Given the description of an element on the screen output the (x, y) to click on. 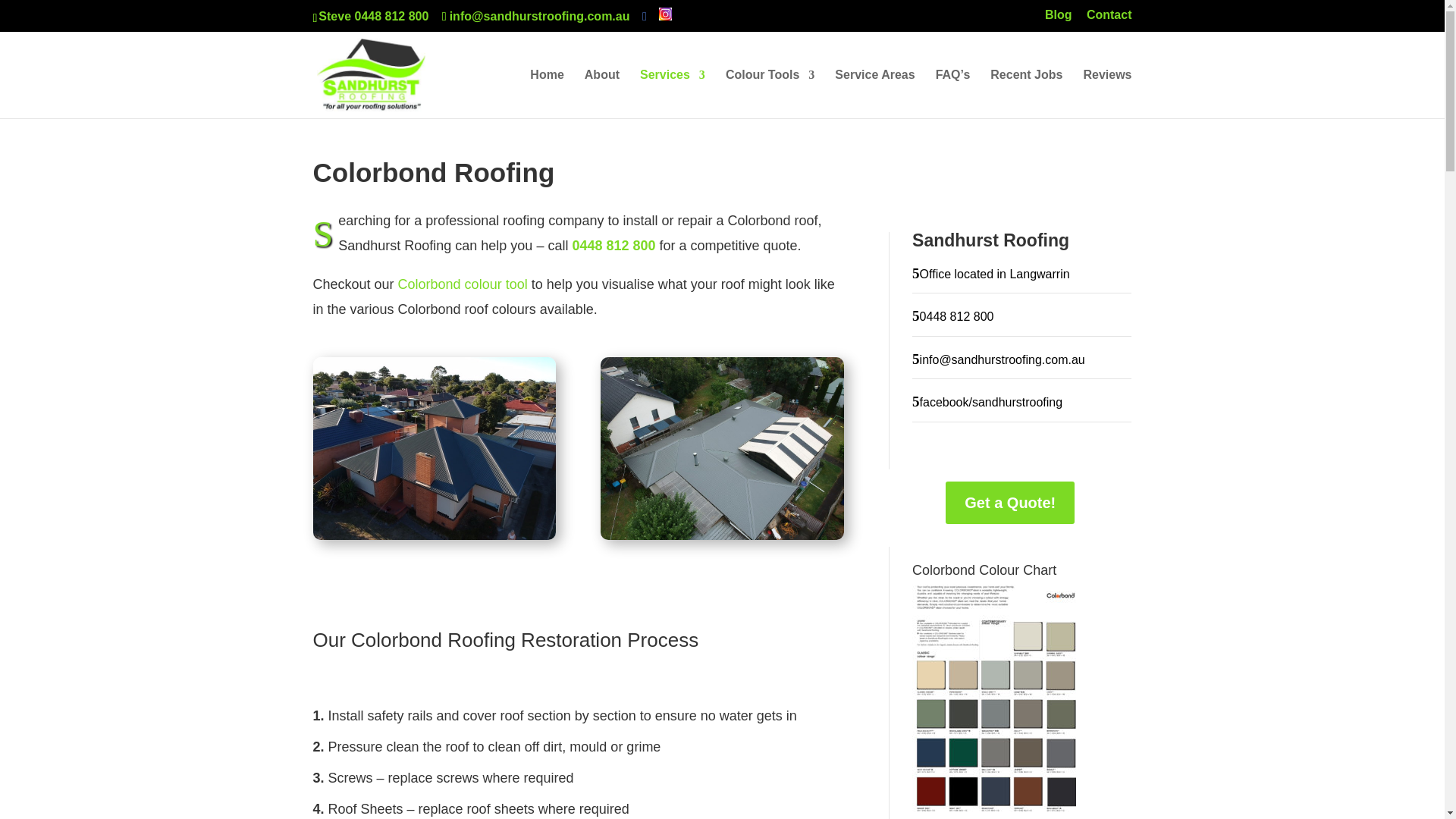
Home (546, 93)
Blog (1058, 19)
Services (672, 93)
Contact (1109, 19)
Steve 0448 812 800 (373, 15)
About (602, 93)
Colour Tools (769, 93)
Reviews (1107, 93)
Recent Jobs (1026, 93)
Service Areas (874, 93)
